Given the description of an element on the screen output the (x, y) to click on. 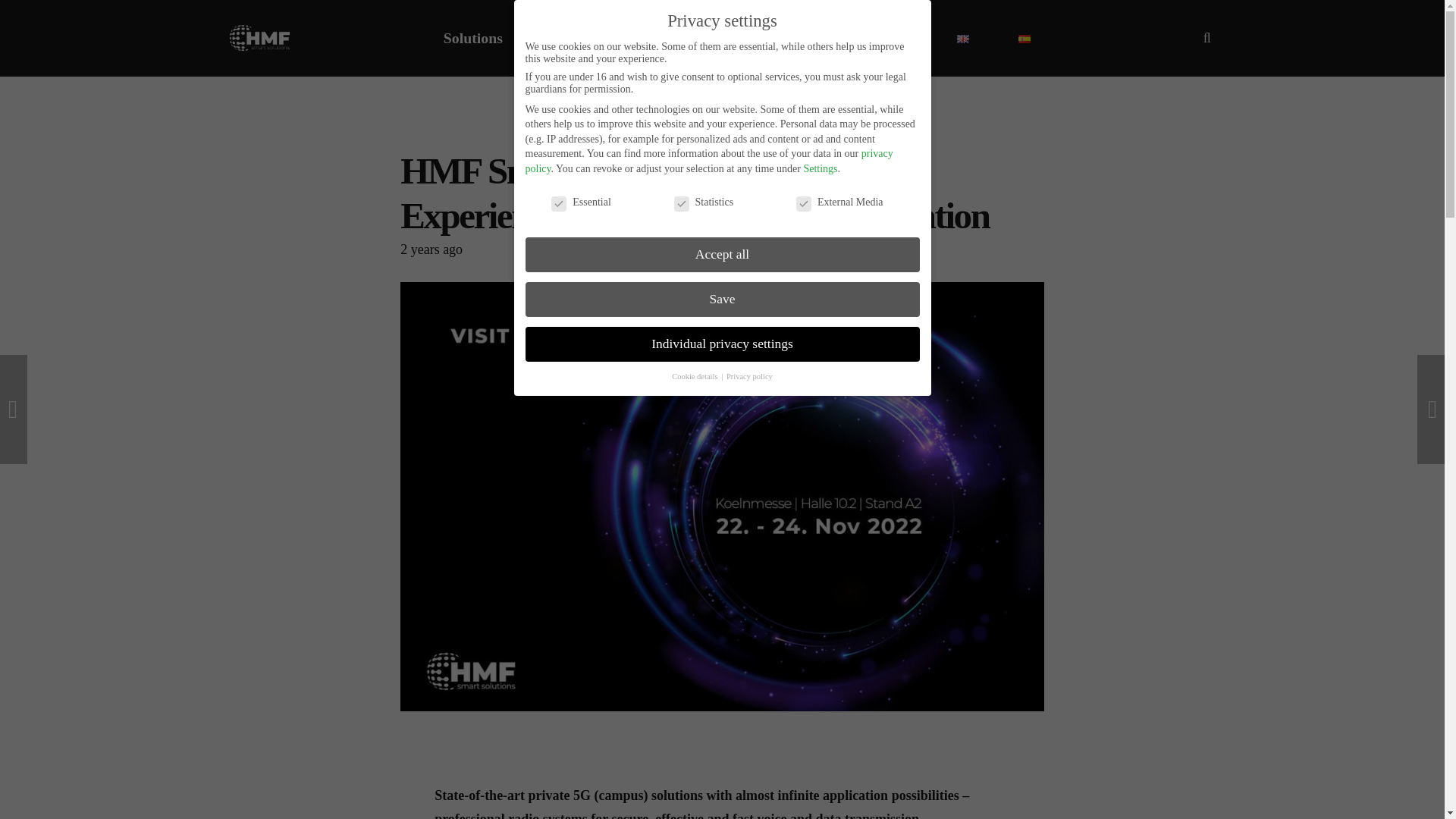
Technologies (592, 38)
Facebook (50, 774)
Instagram (153, 774)
Company (815, 38)
Services (708, 38)
Solutions (472, 38)
Twitter (84, 774)
Xing (187, 774)
LinkedIn (118, 774)
